Given the description of an element on the screen output the (x, y) to click on. 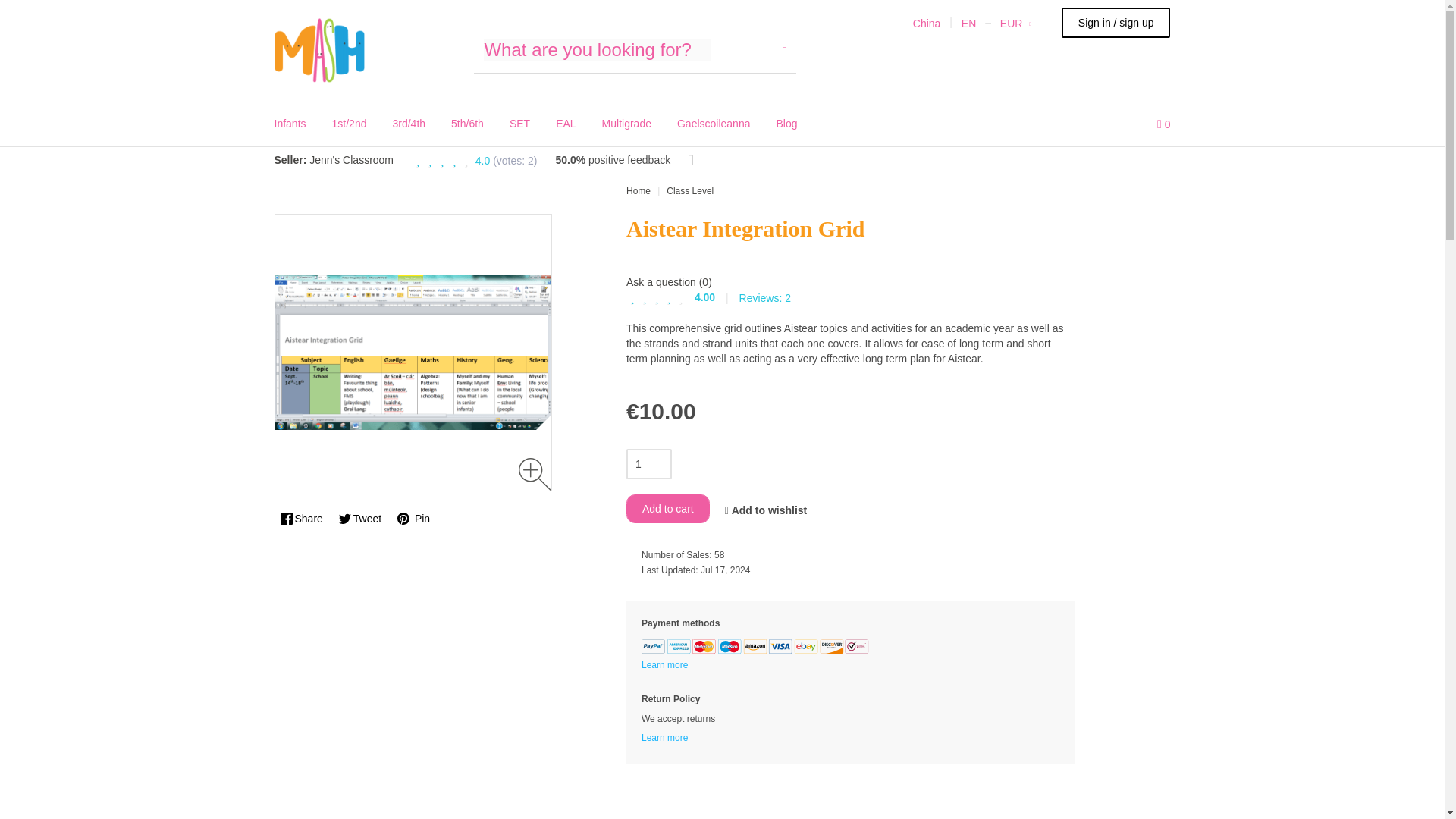
Home (320, 49)
Search (785, 49)
Wishlist (1128, 122)
Your cart (1163, 123)
Quantity (648, 463)
1 (648, 463)
